Given the description of an element on the screen output the (x, y) to click on. 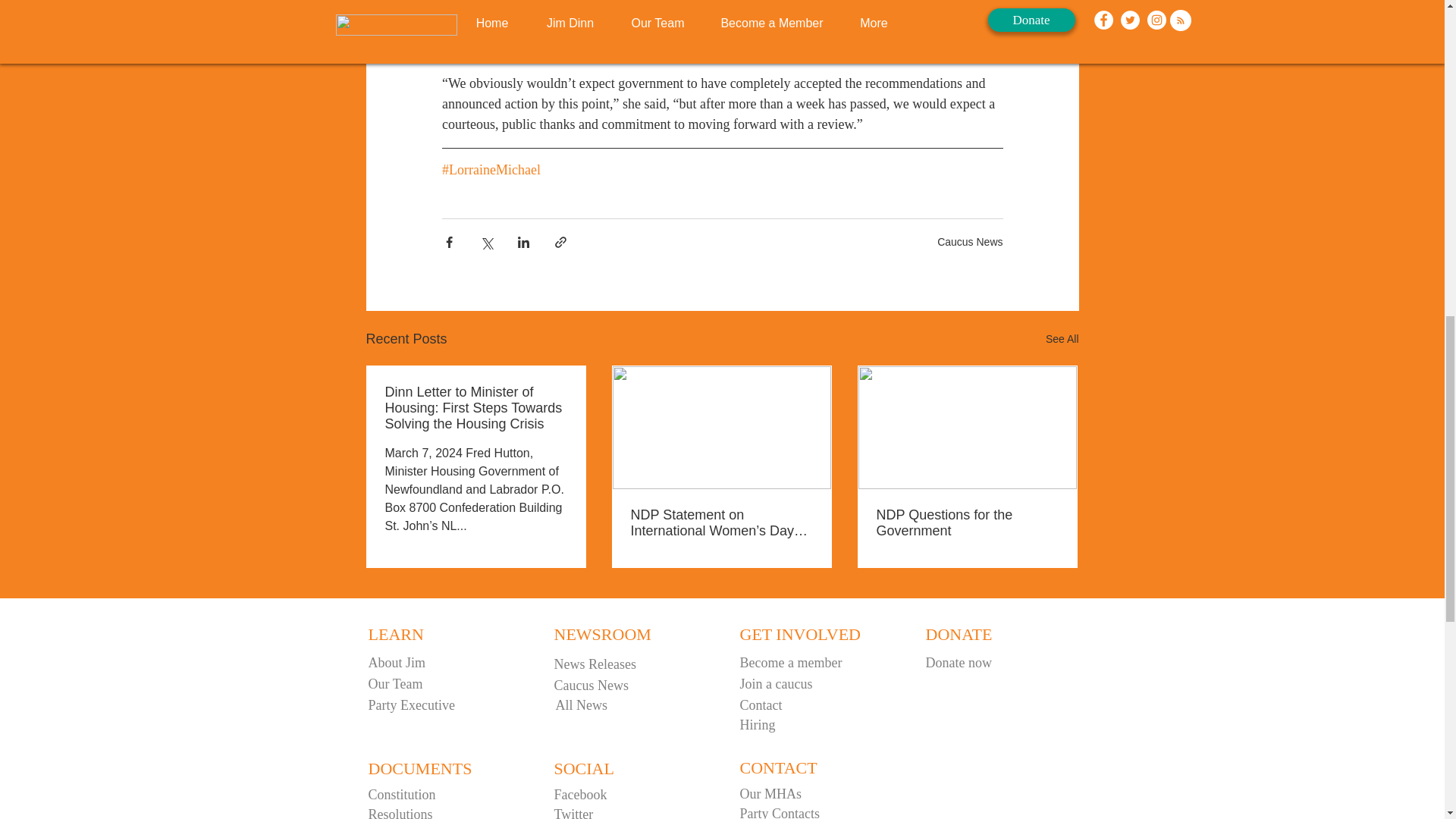
NDP Questions for the Government (967, 522)
Caucus News (970, 241)
See All (1061, 339)
About Jim (442, 663)
